Given the description of an element on the screen output the (x, y) to click on. 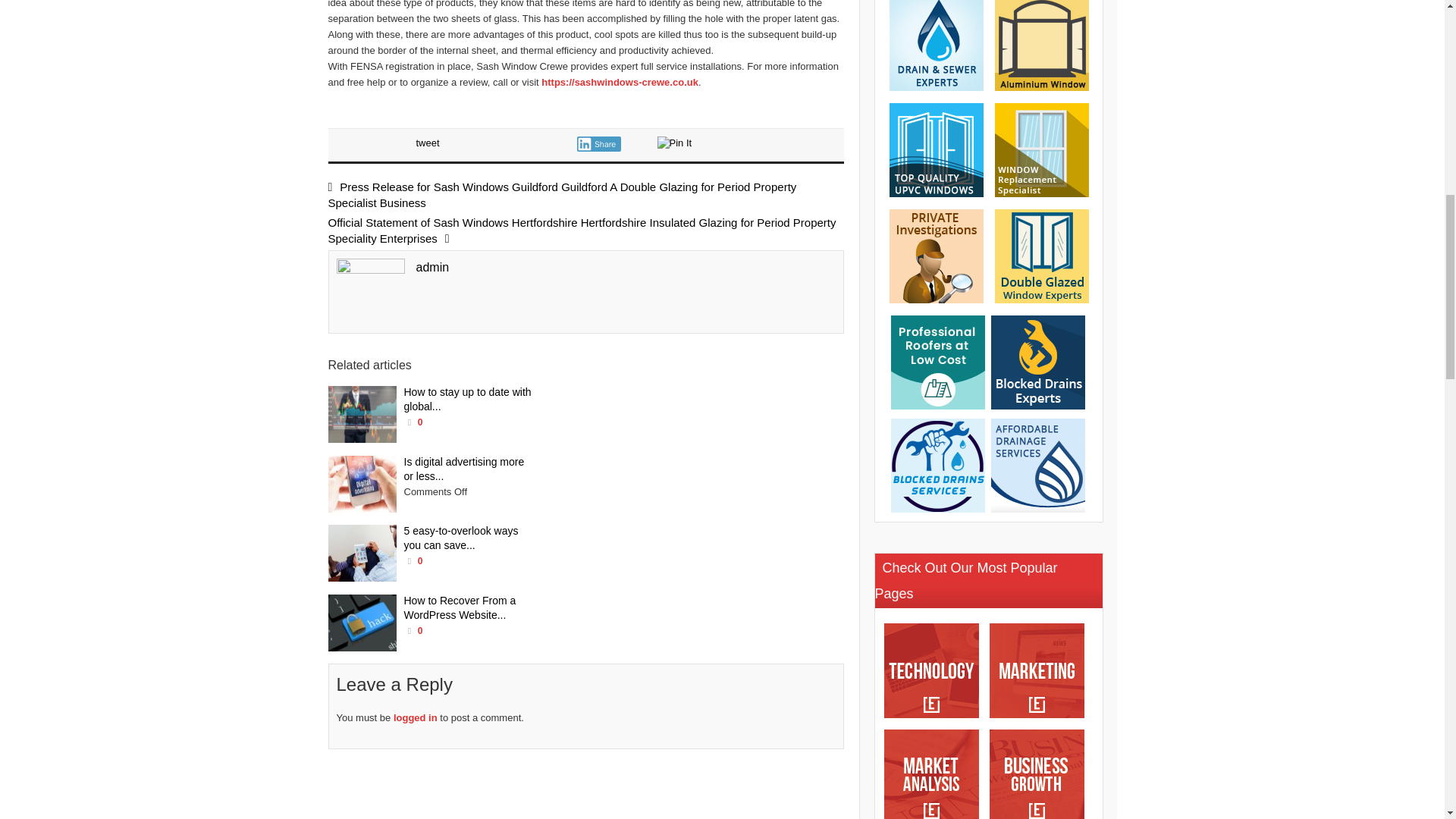
How to stay up to date with global trade news (361, 414)
Pin It (673, 142)
How to Recover From a WordPress Website Attack (361, 622)
